Given the description of an element on the screen output the (x, y) to click on. 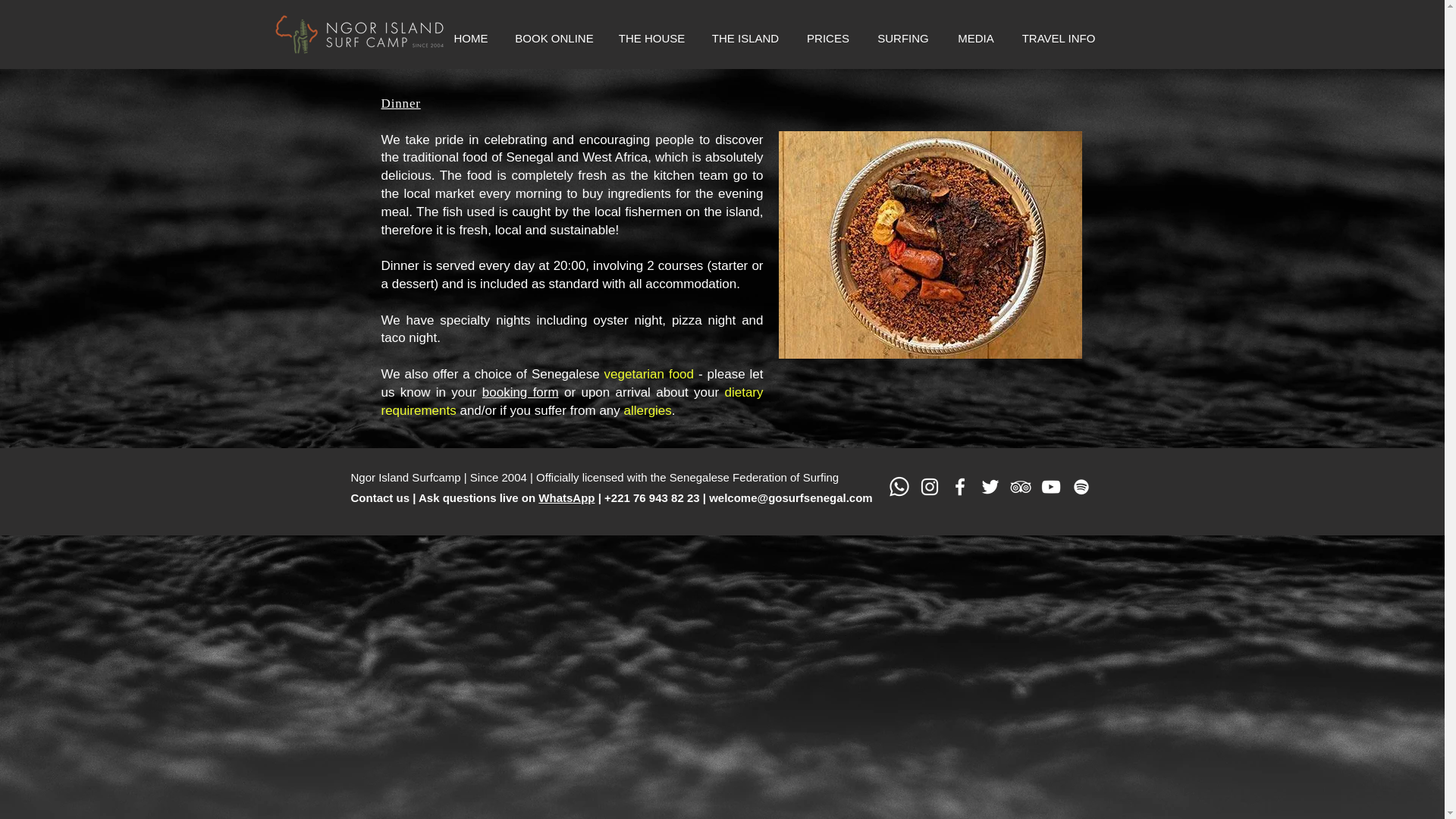
Dinner (400, 103)
booking form (520, 391)
THE ISLAND (744, 38)
HOME (470, 38)
WhatsApp (566, 497)
